Given the description of an element on the screen output the (x, y) to click on. 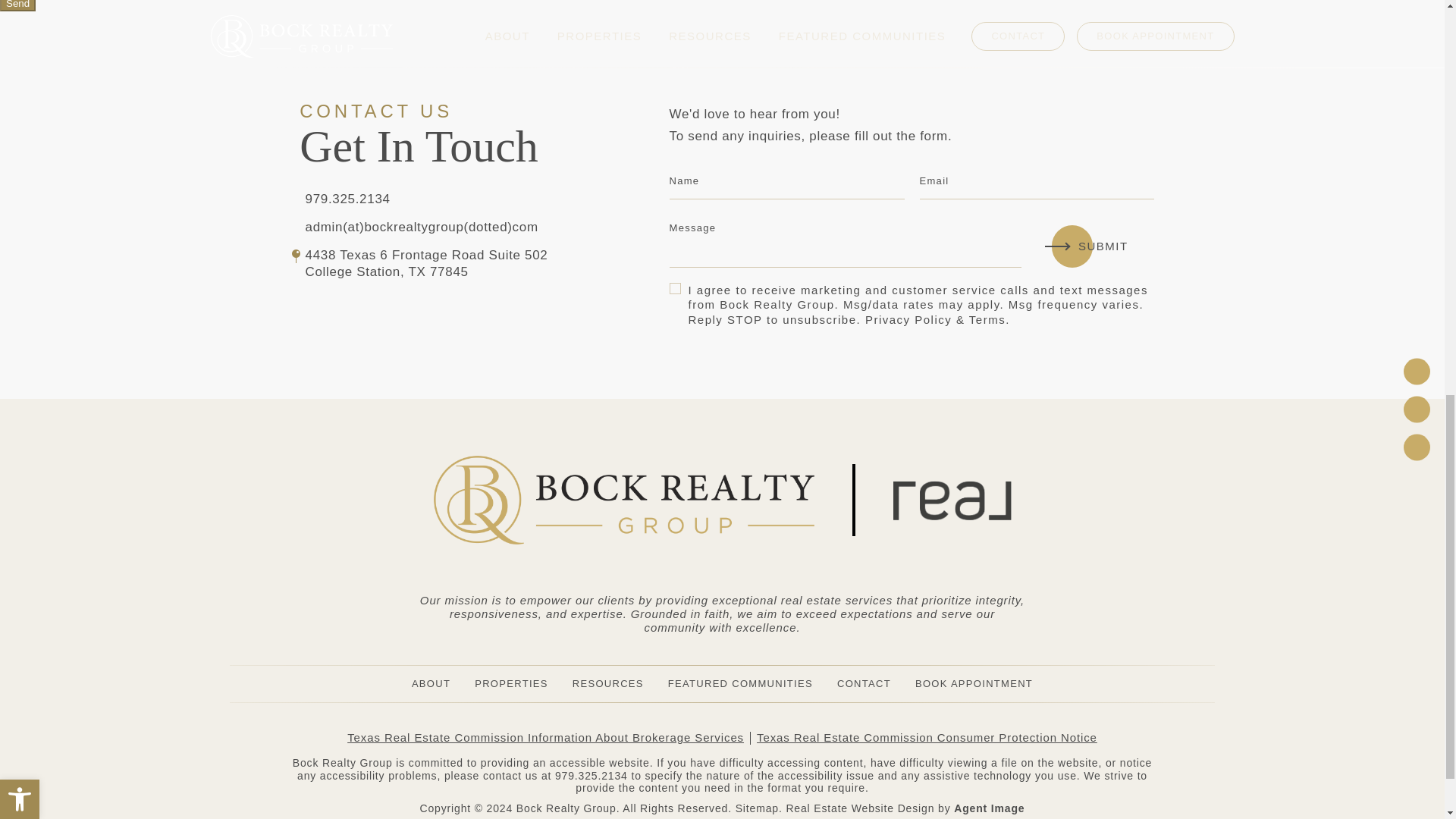
Send (17, 5)
Yes (675, 287)
